Given the description of an element on the screen output the (x, y) to click on. 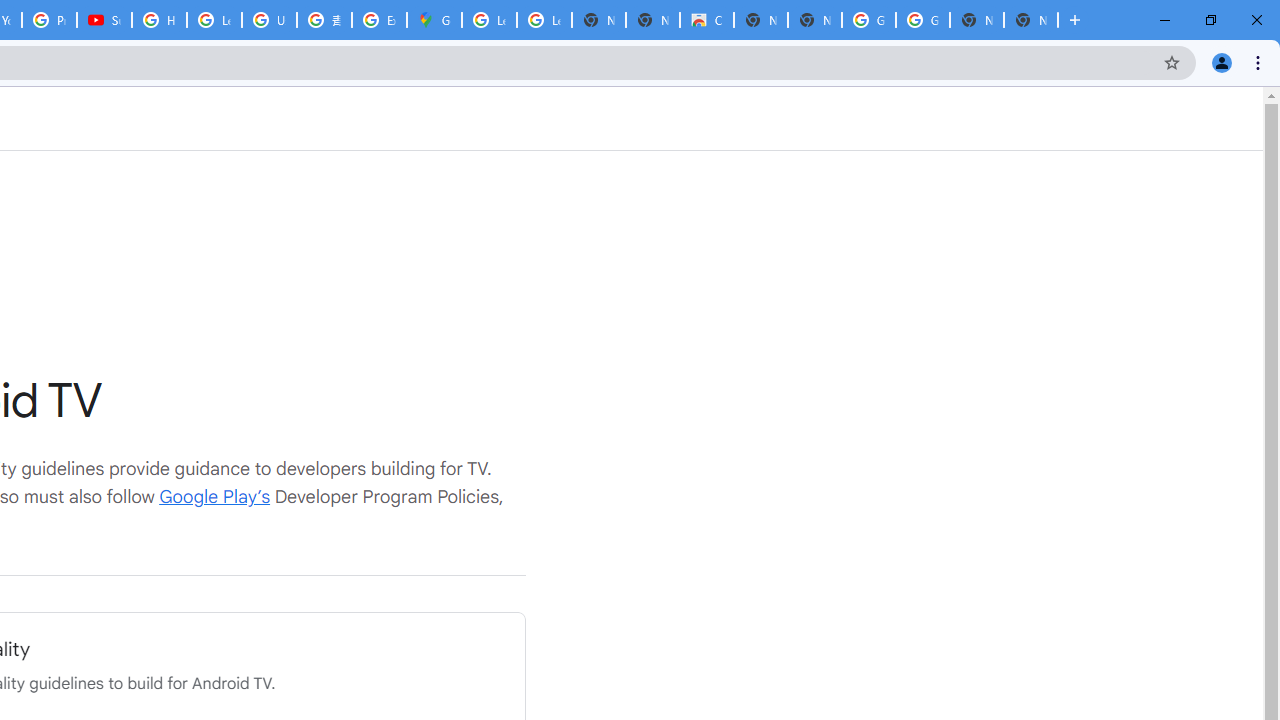
Google Maps (434, 20)
